Given the description of an element on the screen output the (x, y) to click on. 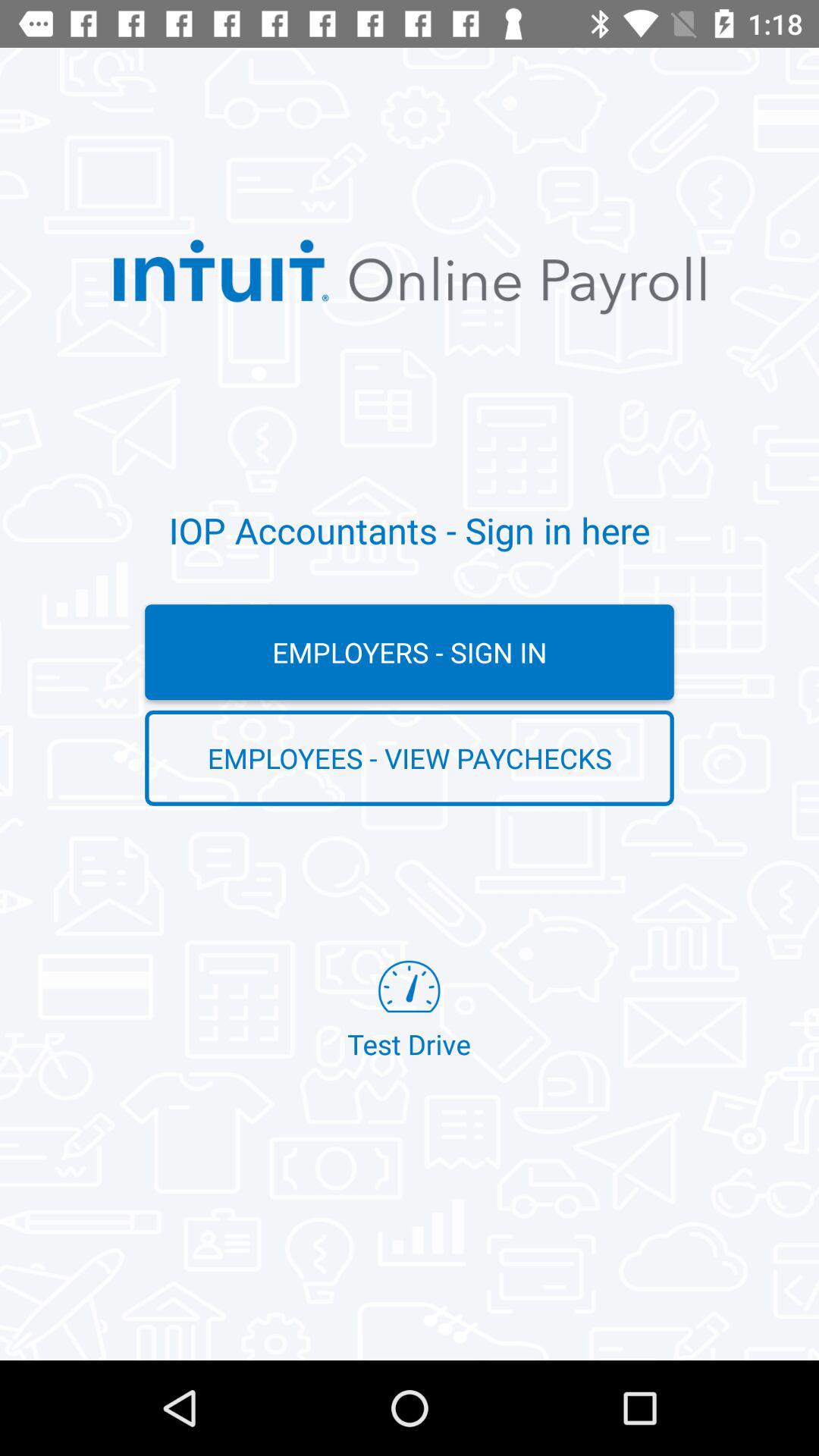
turn off the icon above the employers - sign in item (409, 530)
